Given the description of an element on the screen output the (x, y) to click on. 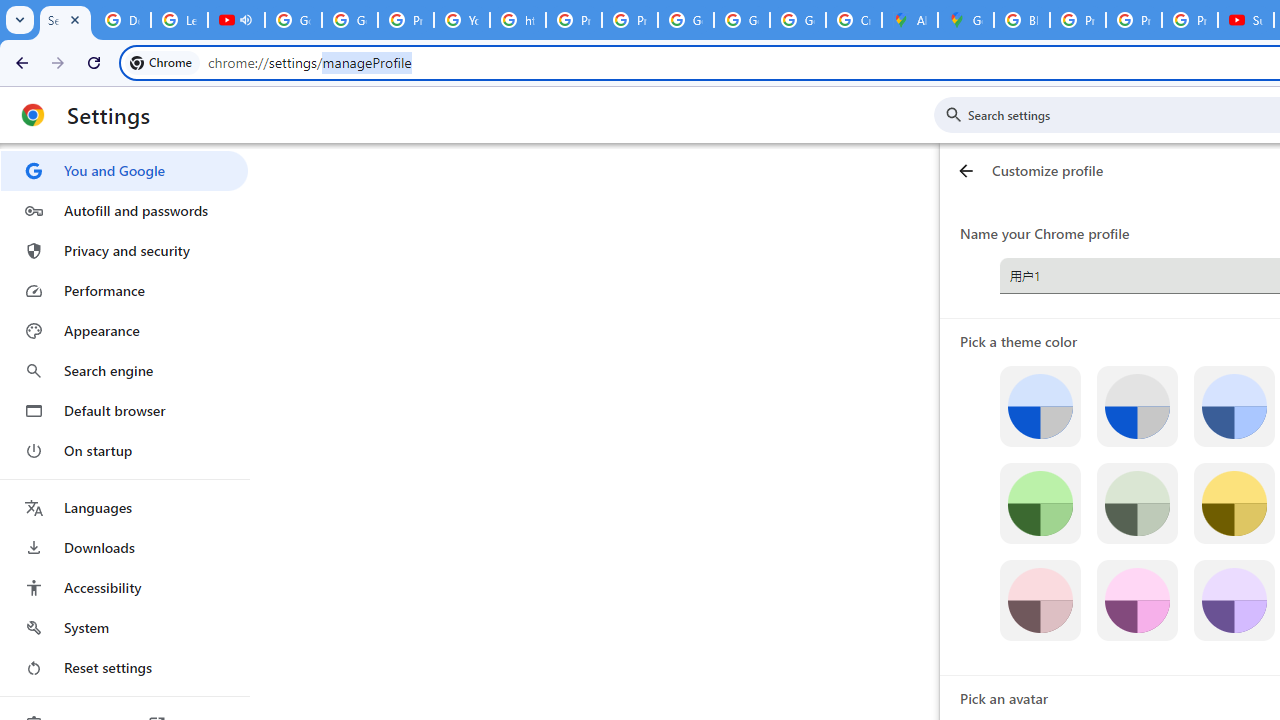
Privacy Help Center - Policies Help (1077, 20)
Google Maps (966, 20)
You and Google (124, 170)
Accessibility (124, 587)
Default browser (124, 410)
Blogger Policies and Guidelines - Transparency Center (1021, 20)
Privacy Help Center - Policies Help (1133, 20)
Downloads (124, 547)
YouTube (461, 20)
Autofill and passwords (124, 210)
Settings - Customize profile (65, 20)
